Given the description of an element on the screen output the (x, y) to click on. 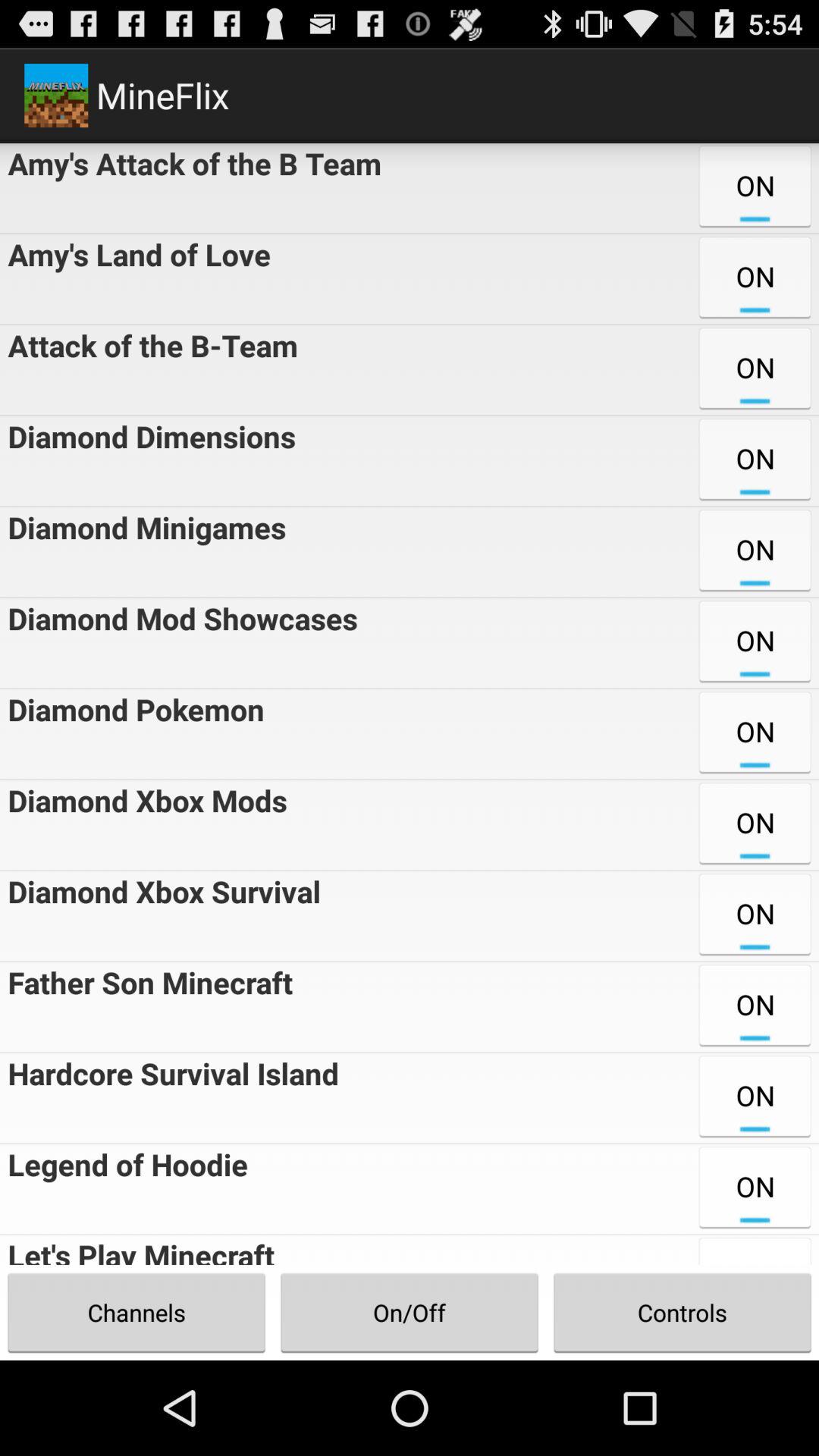
press item to the left of on (147, 461)
